Given the description of an element on the screen output the (x, y) to click on. 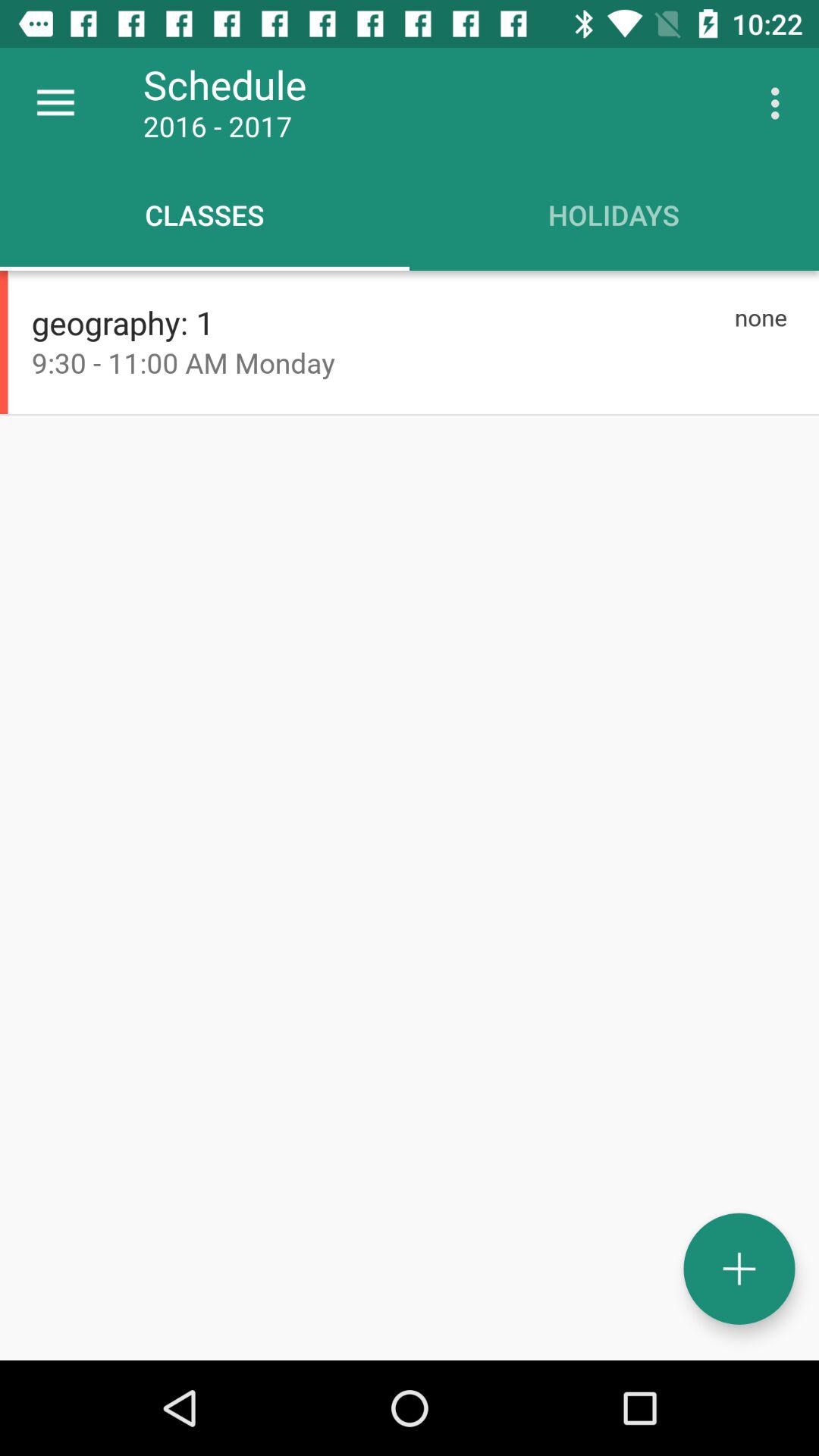
add a new schedule entry (739, 1268)
